Given the description of an element on the screen output the (x, y) to click on. 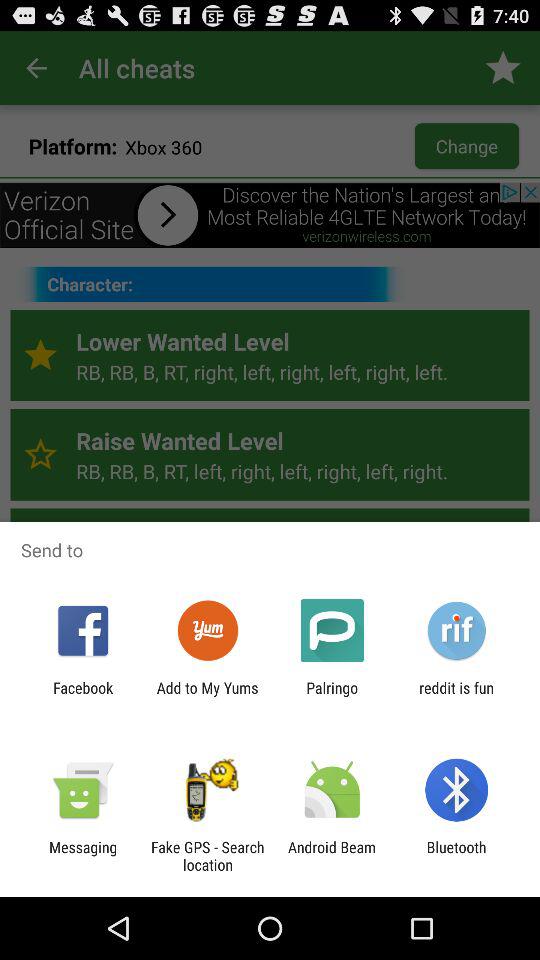
press the item next to palringo icon (456, 696)
